Given the description of an element on the screen output the (x, y) to click on. 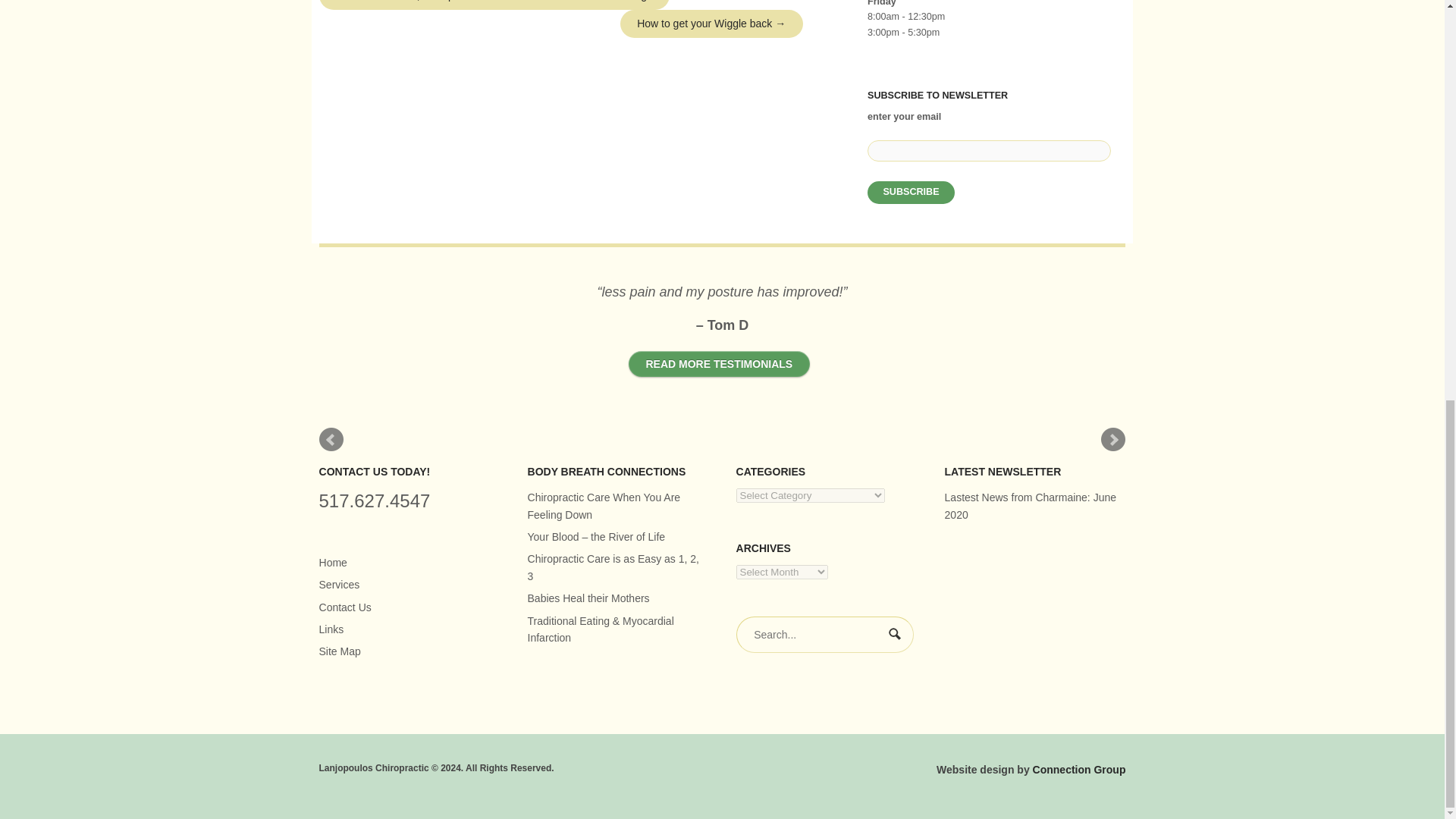
Search (896, 635)
Subscribe (911, 191)
Subscribe (911, 191)
Search (896, 635)
READ MORE TESTIMONIALS (718, 363)
